Given the description of an element on the screen output the (x, y) to click on. 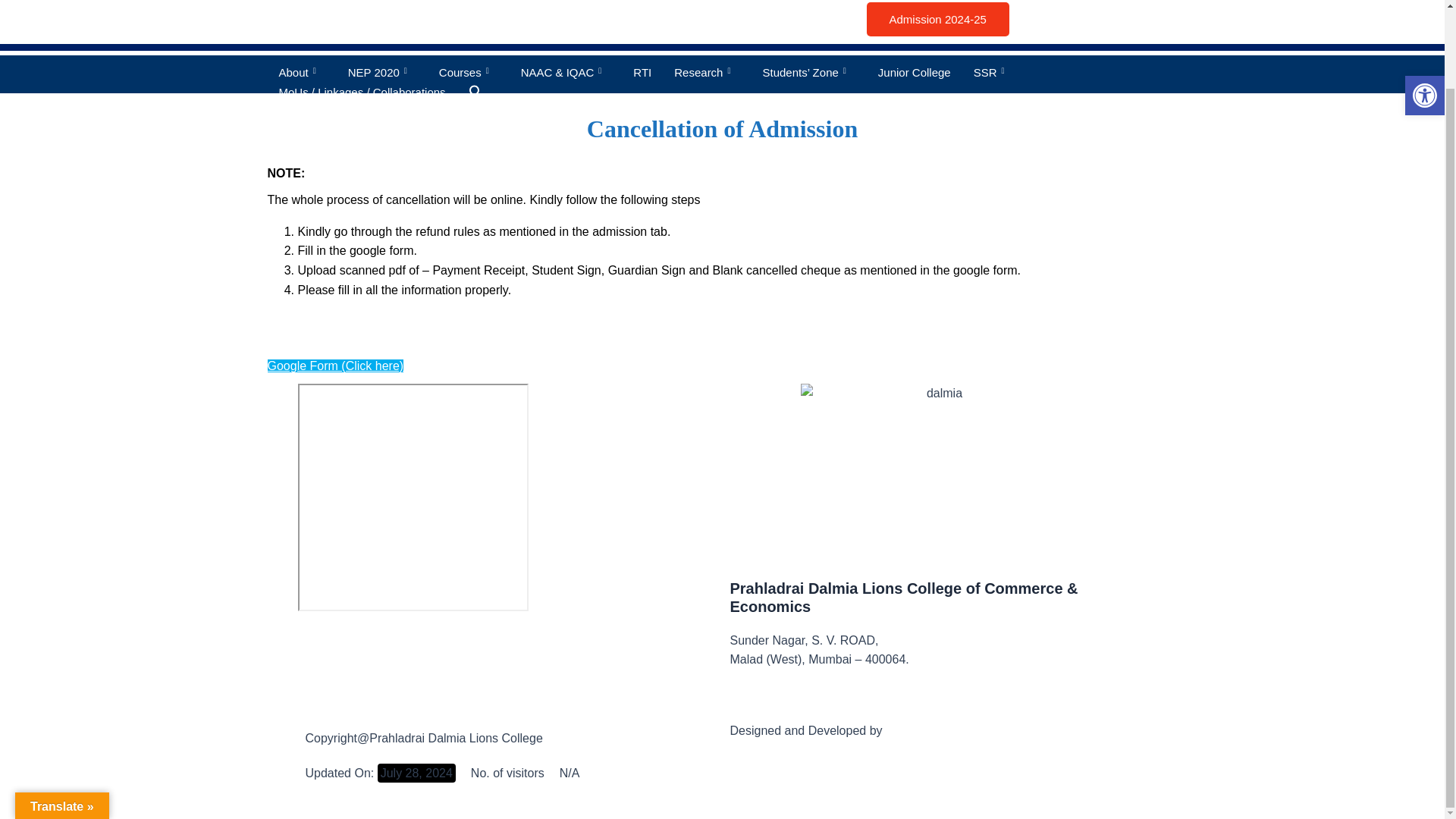
About (301, 72)
Accessibility Tools (1424, 13)
Accessibility Tools (1424, 9)
Courses (468, 72)
NEP 2020 (382, 72)
Admission 2024-25 (937, 19)
